Given the description of an element on the screen output the (x, y) to click on. 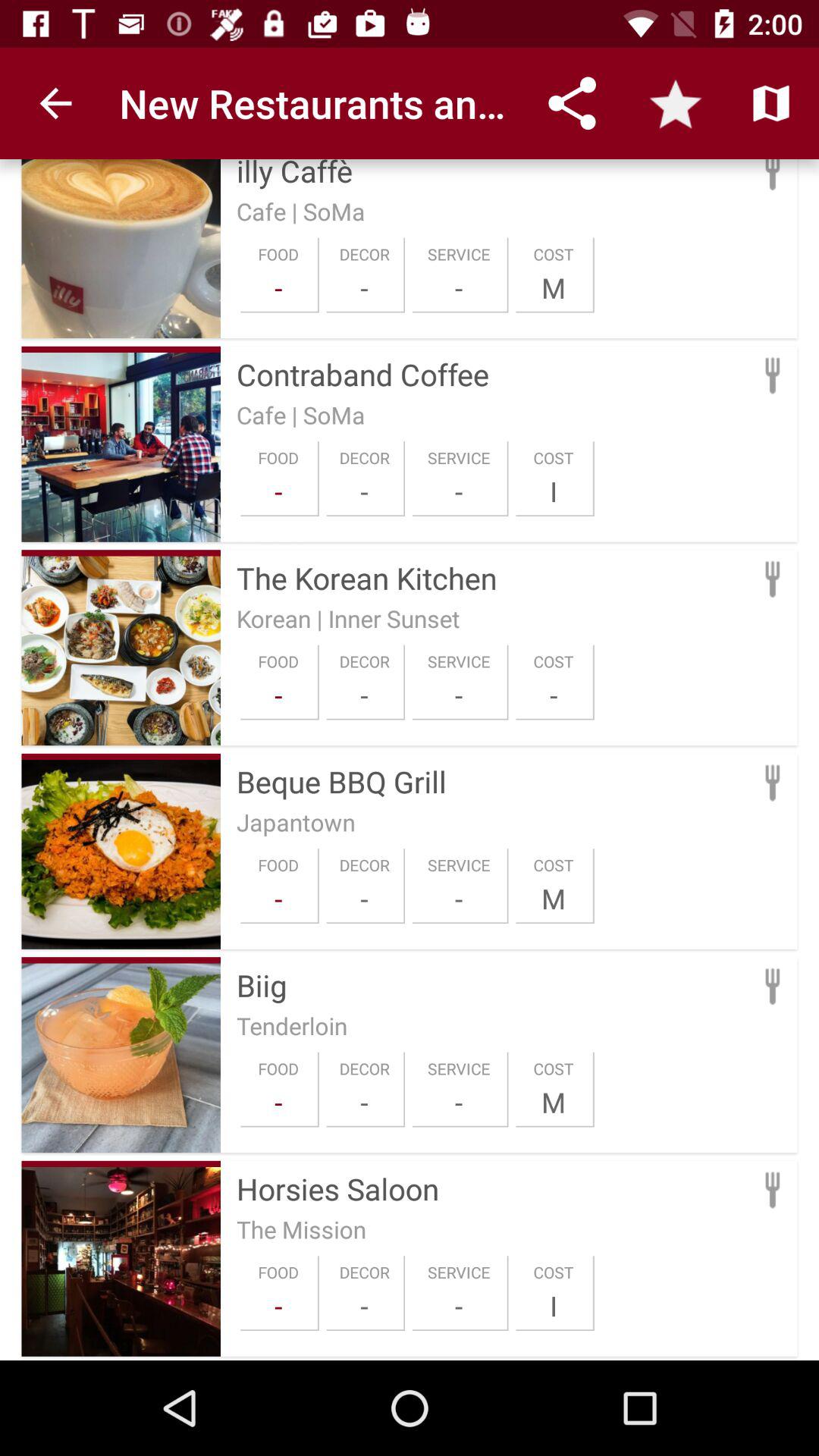
flip to - icon (364, 898)
